Given the description of an element on the screen output the (x, y) to click on. 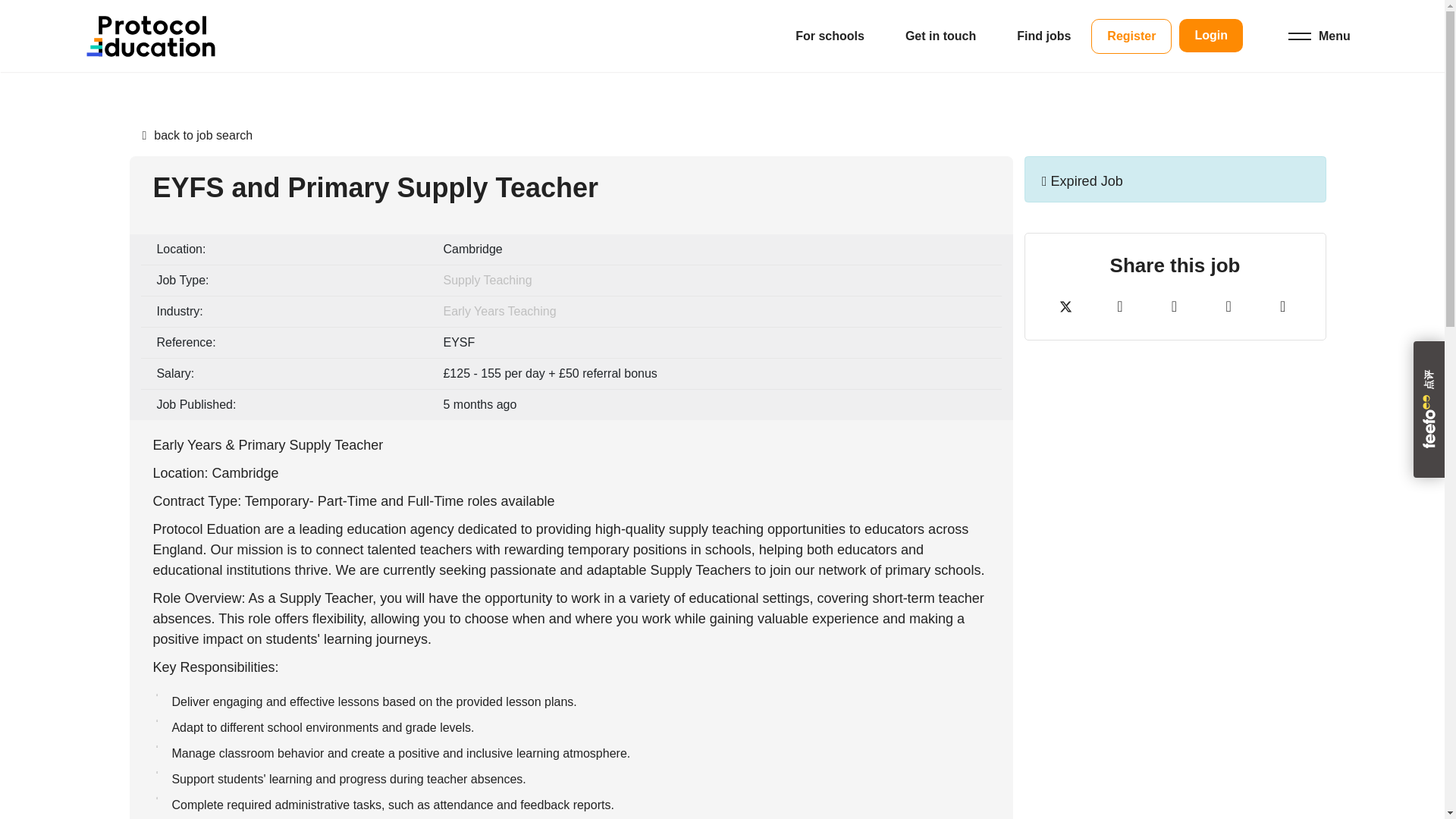
LinkedIn (1173, 307)
Go to the Homepage (150, 35)
Email (1228, 307)
Twitter (1065, 307)
Facebook (1119, 307)
